Given the description of an element on the screen output the (x, y) to click on. 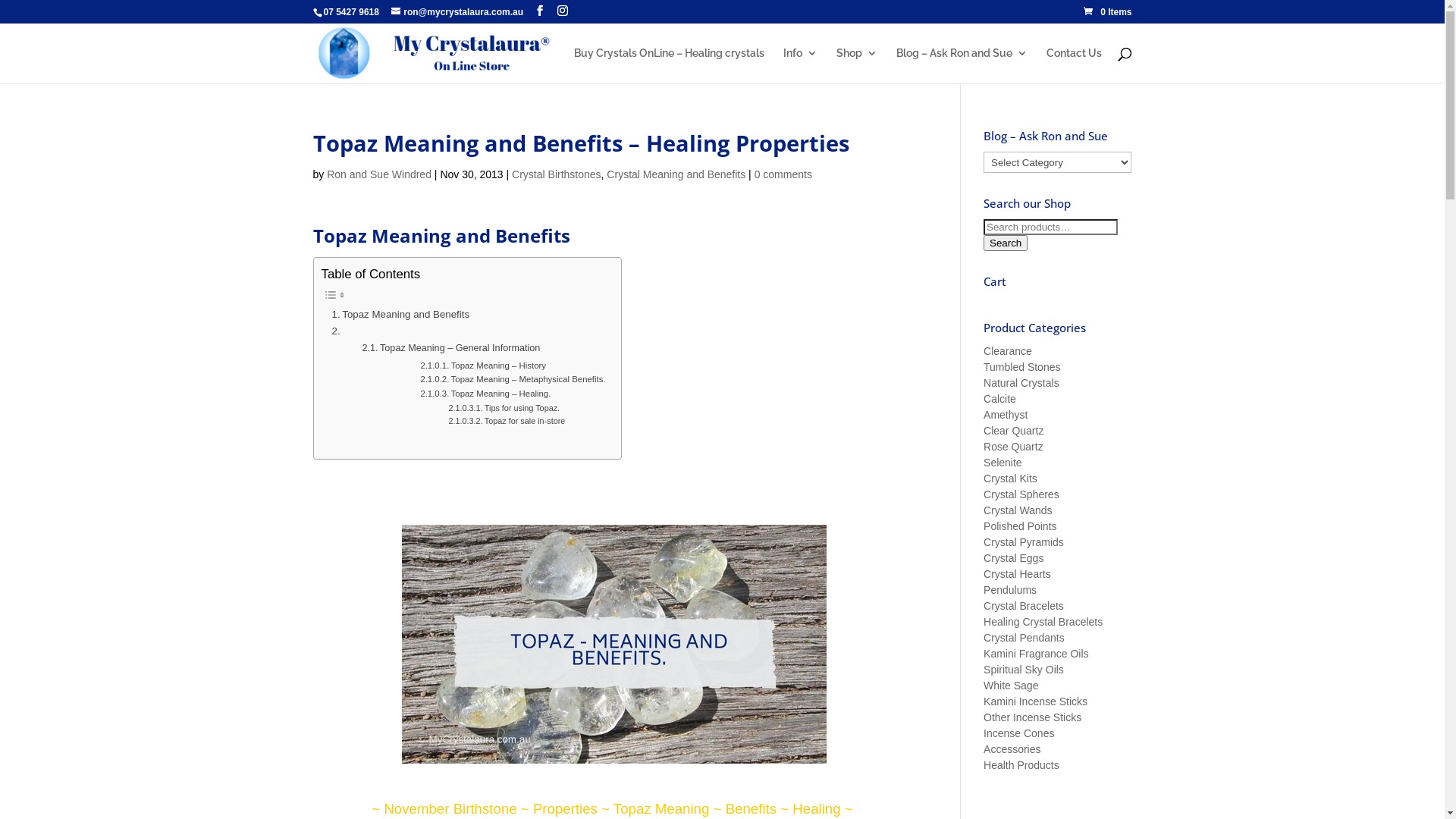
Incense Cones Element type: text (1018, 733)
Topaz Meaning and Benefits Element type: text (401, 314)
Healing Crystal Bracelets Element type: text (1042, 621)
Calcite Element type: text (999, 398)
0 Items Element type: text (1107, 11)
Crystal Birthstones Element type: text (555, 174)
Amethyst Element type: text (1005, 414)
White Sage Element type: text (1010, 685)
Clearance Element type: text (1007, 351)
Other Incense Sticks Element type: text (1032, 717)
Shop Element type: text (855, 65)
Clear Quartz Element type: text (1013, 430)
0 comments Element type: text (783, 174)
Rose Quartz Element type: text (1013, 446)
Info Element type: text (799, 65)
Crystal Bracelets Element type: text (1023, 605)
Crystal Wands Element type: text (1017, 510)
  Element type: text (338, 330)
Spiritual Sky Oils Element type: text (1023, 669)
ron@mycrystalaura.com.au Element type: text (457, 11)
Crystal Pyramids Element type: text (1023, 542)
Crystal Pendants Element type: text (1023, 637)
Crystal Meaning and Benefits Element type: text (675, 174)
Search Element type: text (1005, 243)
Crystal Eggs Element type: text (1013, 558)
Health Products Element type: text (1021, 765)
Accessories Element type: text (1011, 749)
Crystal Hearts Element type: text (1017, 573)
Pendulums Element type: text (1009, 589)
Tips for using Topaz. Element type: text (503, 407)
Crystal Kits Element type: text (1010, 478)
Tumbled Stones Element type: text (1021, 366)
Kamini Incense Sticks Element type: text (1035, 701)
Contact Us Element type: text (1073, 65)
Selenite Element type: text (1002, 462)
Polished Points Element type: text (1020, 526)
Crystal Spheres Element type: text (1021, 494)
Topaz for sale in-store Element type: text (506, 420)
Natural Crystals Element type: text (1021, 382)
Kamini Fragrance Oils Element type: text (1035, 653)
Ron and Sue Windred Element type: text (378, 174)
